Given the description of an element on the screen output the (x, y) to click on. 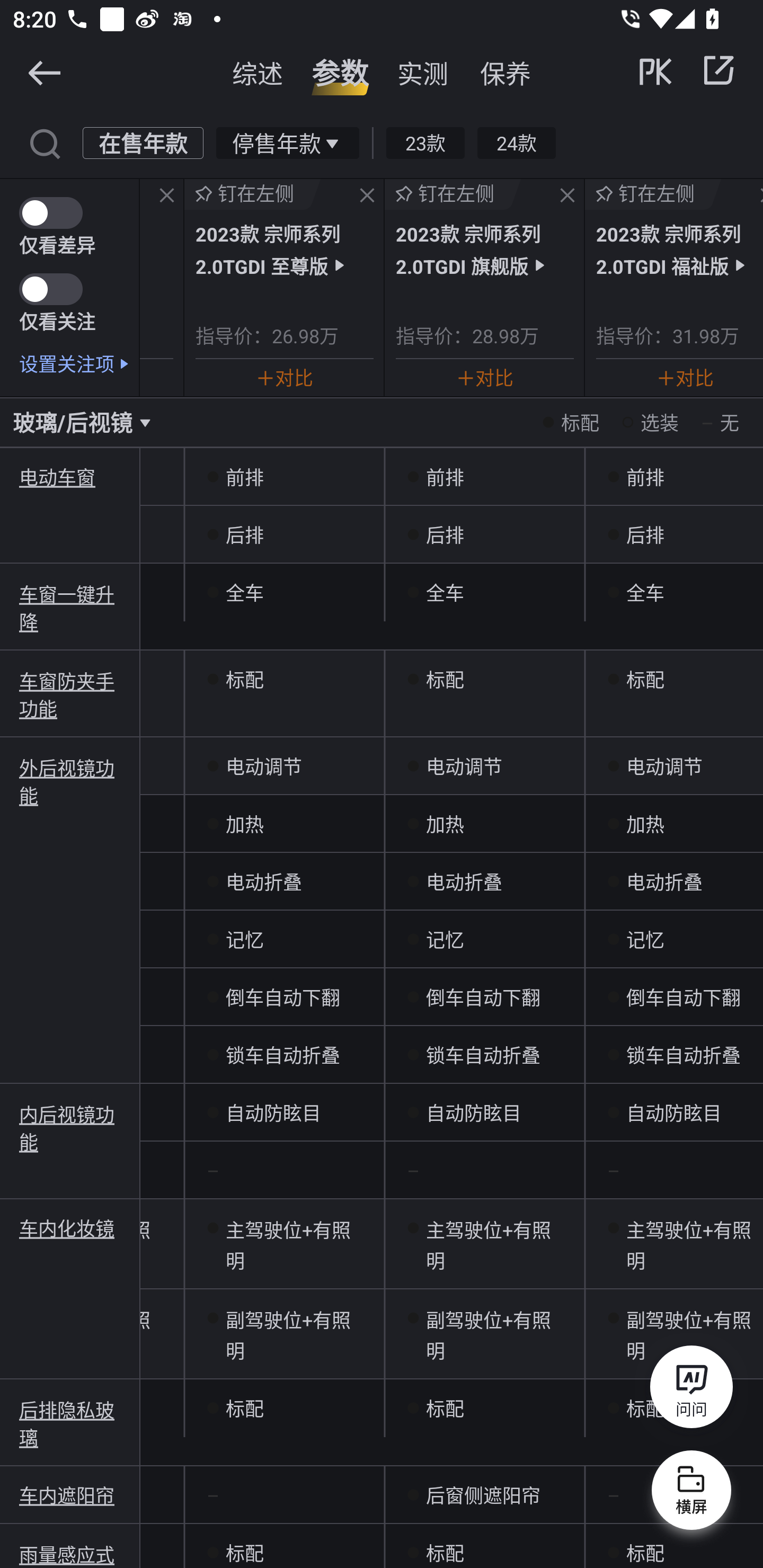
  (688, 70)
综述 (257, 72)
实测 (422, 72)
保养 (505, 72)
 (718, 70)
 (44, 71)
 (44, 142)
在售年款 (142, 142)
停售年款  (287, 142)
23款 (425, 142)
24款 (516, 142)
 (166, 195)
 钉在左侧 (252, 194)
 (366, 195)
 钉在左侧 (452, 194)
 (567, 195)
 钉在左侧 (653, 194)
2023款 宗师系列 2.0TGDI 至尊版  (284, 249)
2023款 宗师系列 2.0TGDI 旗舰版  (484, 249)
2023款 宗师系列 2.0TGDI 福祉版  (679, 249)
设置关注项  (79, 363)
对比 (283, 377)
对比 (484, 377)
对比 (684, 377)
玻璃/后视镜  标配 选装 无 (381, 422)
前排 (284, 477)
前排 (484, 477)
前排 (674, 477)
电动车窗 (69, 476)
后排 (284, 534)
后排 (484, 534)
后排 (674, 534)
全车 (284, 591)
全车 (484, 591)
全车 (674, 591)
车窗一键升降 (69, 607)
标配 (284, 679)
标配 (484, 679)
标配 (674, 679)
车窗防夹手功能 (69, 693)
电动调节 (284, 765)
电动调节 (484, 765)
电动调节 (674, 765)
外后视镜功能 (69, 780)
加热 (284, 823)
加热 (484, 823)
加热 (674, 823)
电动折叠 (284, 881)
电动折叠 (484, 881)
电动折叠 (674, 881)
记忆 (284, 940)
记忆 (484, 940)
记忆 (674, 940)
倒车自动下翻 (284, 997)
倒车自动下翻 (484, 997)
倒车自动下翻 (674, 997)
锁车自动折叠 (284, 1054)
锁车自动折叠 (484, 1054)
锁车自动折叠 (674, 1054)
自动防眩目 (284, 1112)
自动防眩目 (484, 1112)
自动防眩目 (674, 1112)
内后视镜功能 (69, 1126)
主驾驶位+有照明 (284, 1243)
主驾驶位+有照明 (484, 1243)
主驾驶位+有照明 (674, 1243)
车内化妆镜 (69, 1228)
副驾驶位+有照明 (284, 1333)
副驾驶位+有照明 (484, 1333)
副驾驶位+有照明 (674, 1333)
 问问 (691, 1389)
标配 (284, 1408)
标配 (484, 1408)
后排隐私玻璃 (69, 1422)
后窗侧遮阳帘 (484, 1495)
车内遮阳帘 (69, 1494)
标配 (284, 1546)
标配 (484, 1546)
标配 (674, 1546)
雨量感应式雨刷 (69, 1553)
